Given the description of an element on the screen output the (x, y) to click on. 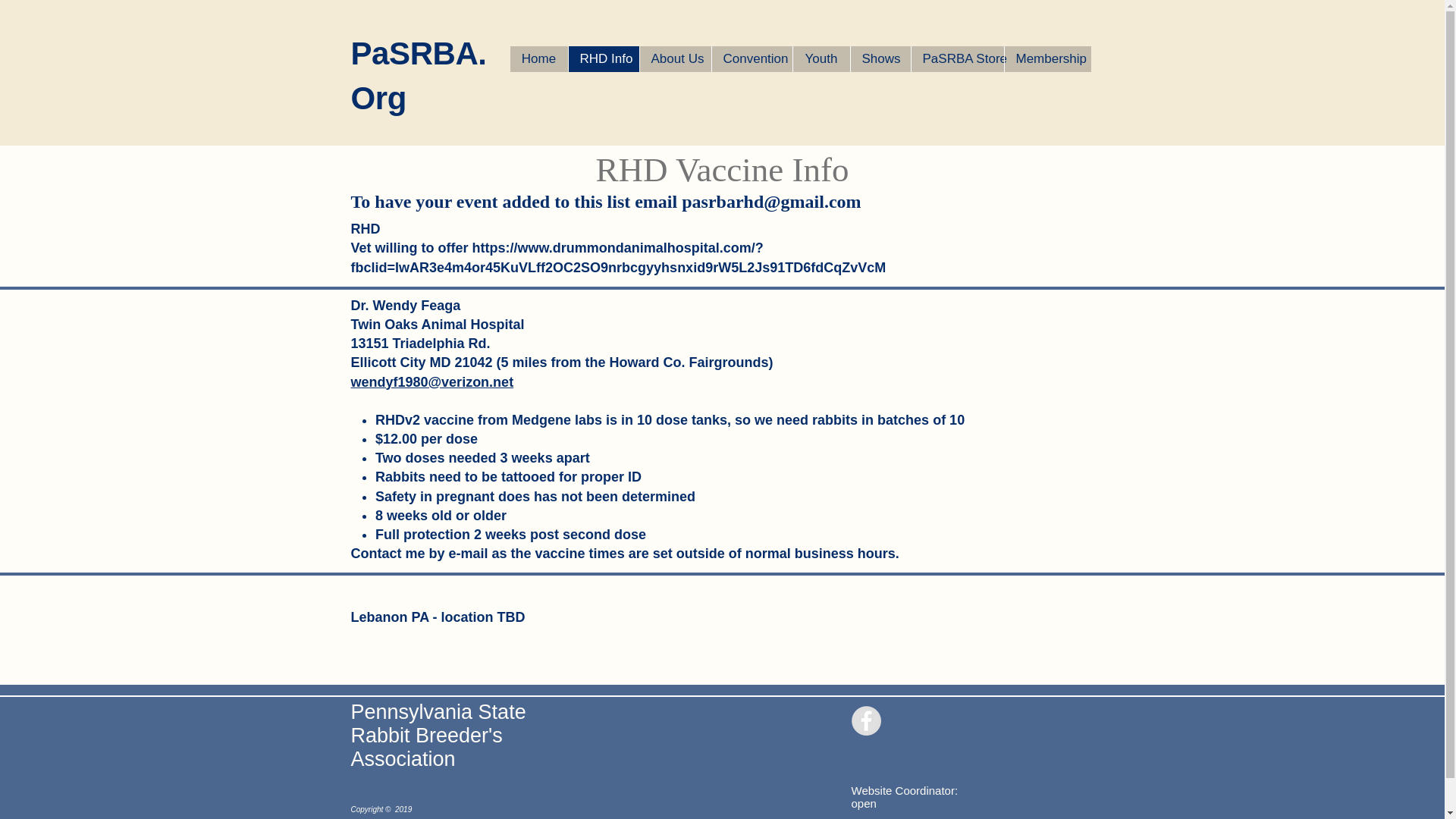
PaSRBA Store (956, 58)
Home (538, 58)
RHD Info (603, 58)
